Given the description of an element on the screen output the (x, y) to click on. 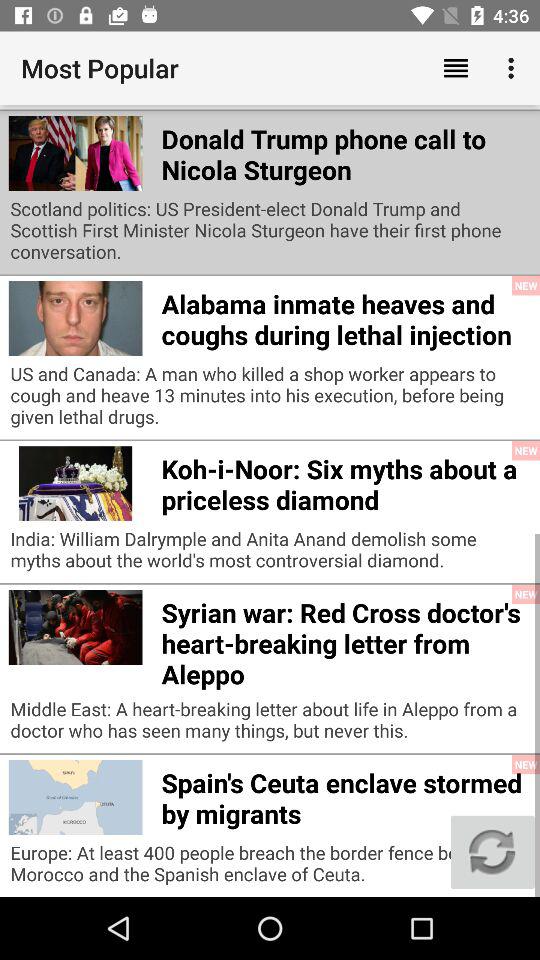
click the icon above the europe learning english app (455, 67)
